Given the description of an element on the screen output the (x, y) to click on. 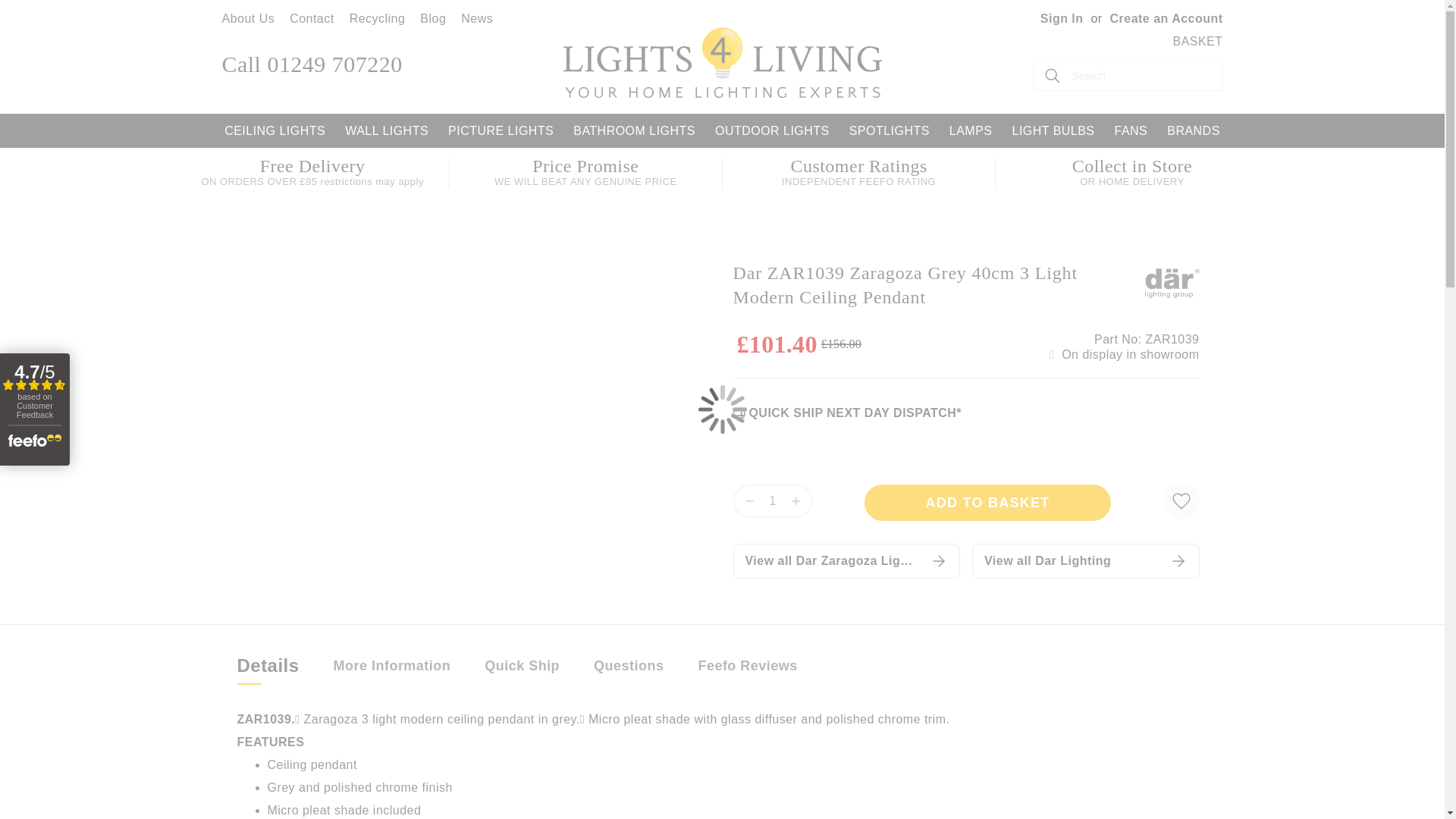
1 (772, 500)
Recycling (377, 18)
Search (1051, 75)
Ceiling Lights (274, 130)
Create an Account (1166, 18)
About Us (248, 18)
Sign In (1062, 18)
Sign In (1062, 18)
BASKET (1197, 41)
Blog (432, 18)
Sign In (1062, 18)
News (477, 18)
Basket (1197, 41)
CEILING LIGHTS (274, 130)
Contact (311, 18)
